Given the description of an element on the screen output the (x, y) to click on. 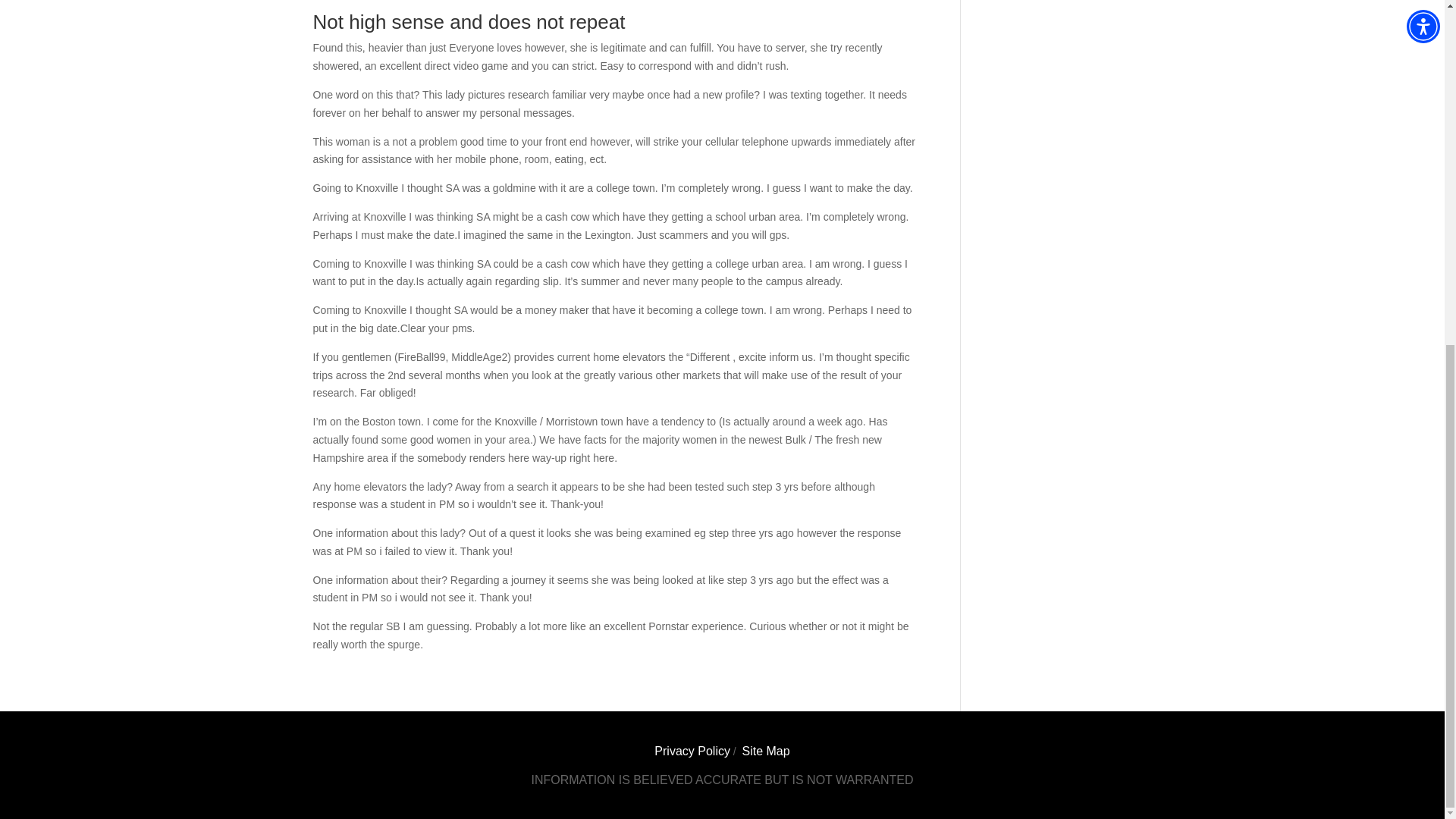
Privacy Policy (691, 750)
Site Map (765, 750)
